Given the description of an element on the screen output the (x, y) to click on. 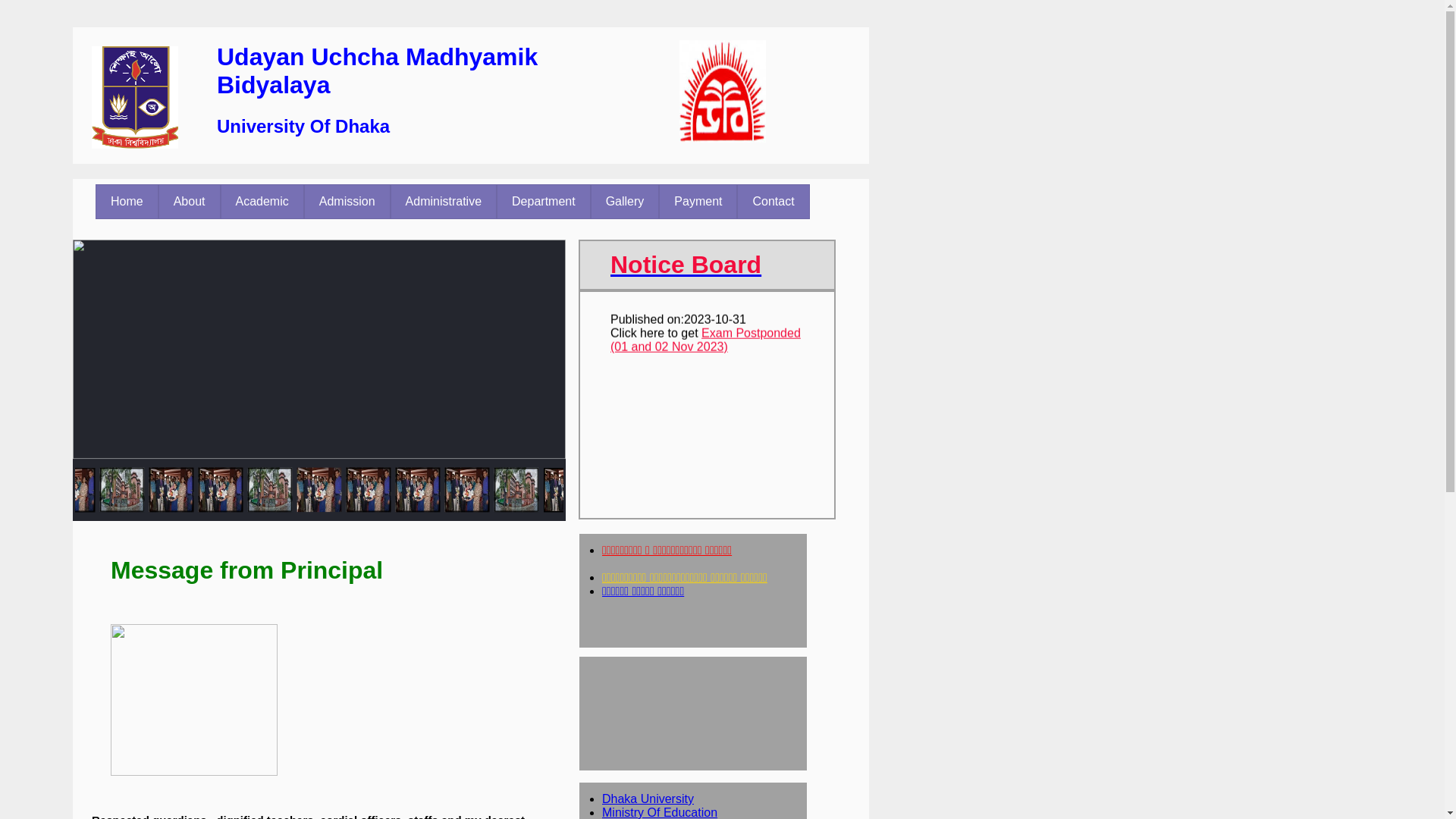
Contact Element type: text (773, 201)
Shishu Admission (Direct Selected List) Element type: text (703, 408)
Home Element type: text (126, 201)
Shishu Admission (Selected for Lottery)Timing Element type: text (703, 510)
Payment Element type: text (697, 201)
Admission Element type: text (347, 201)
About Element type: text (189, 201)
Notice Board Element type: text (682, 264)
Administrative Element type: text (443, 201)
Gallery Element type: text (624, 201)
Department Element type: text (543, 201)
Dhaka University Element type: text (647, 798)
Academic Element type: text (261, 201)
Shishu Admission Lottery Result - 2024 Element type: text (703, 306)
